Given the description of an element on the screen output the (x, y) to click on. 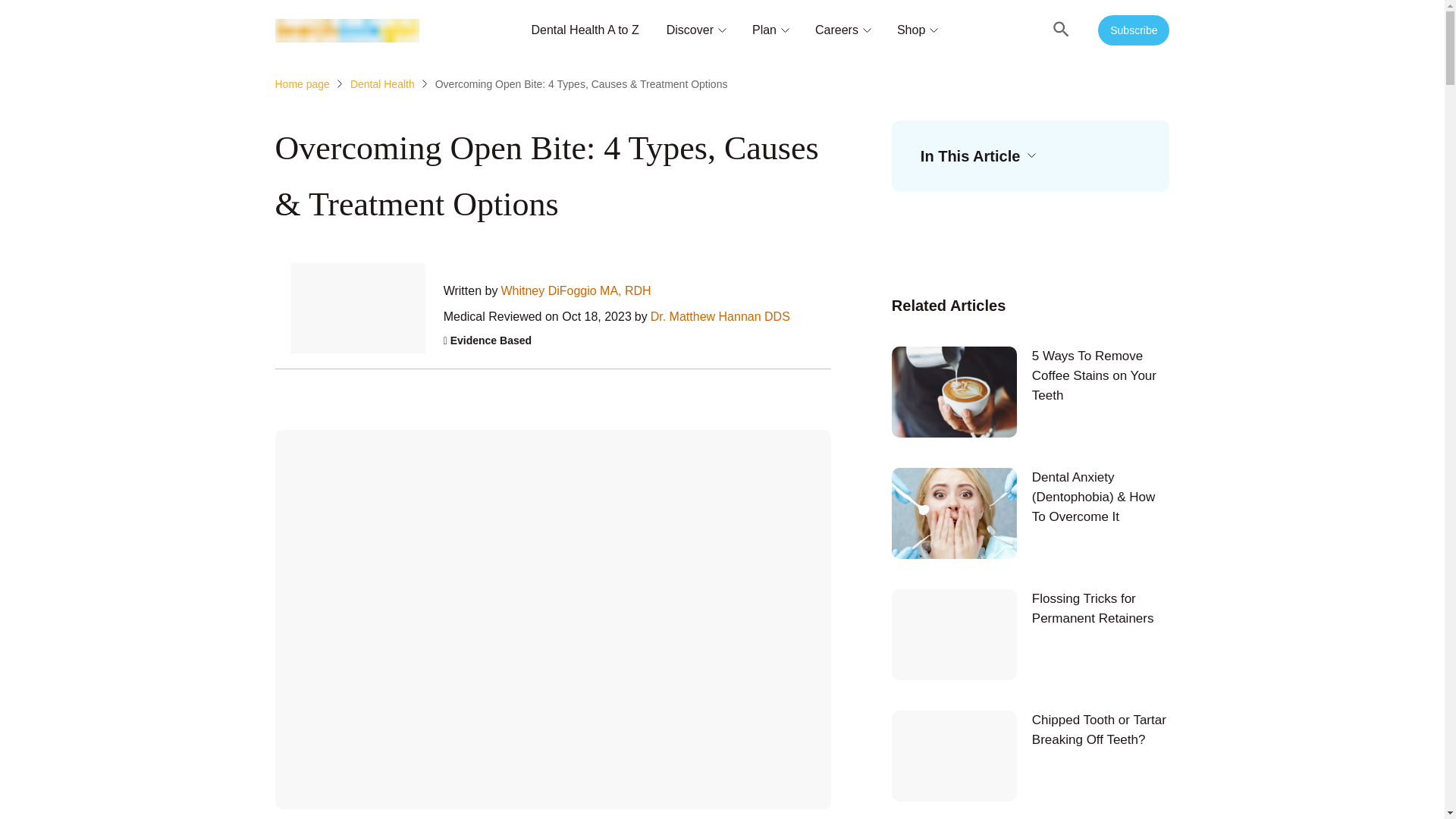
Home page (302, 83)
Whitney DiFoggio MA, RDH (575, 291)
Chipped Tooth or Tartar Breaking Off Teeth? (1030, 755)
Dental Health A to Z (585, 30)
5 Ways To Remove Coffee Stains on Your Teeth (1030, 391)
In This Article (977, 155)
Dr. Matthew Hannan DDS (720, 316)
Dental Health (382, 83)
Flossing Tricks for Permanent Retainers (1030, 634)
Subscribe (1133, 30)
